Given the description of an element on the screen output the (x, y) to click on. 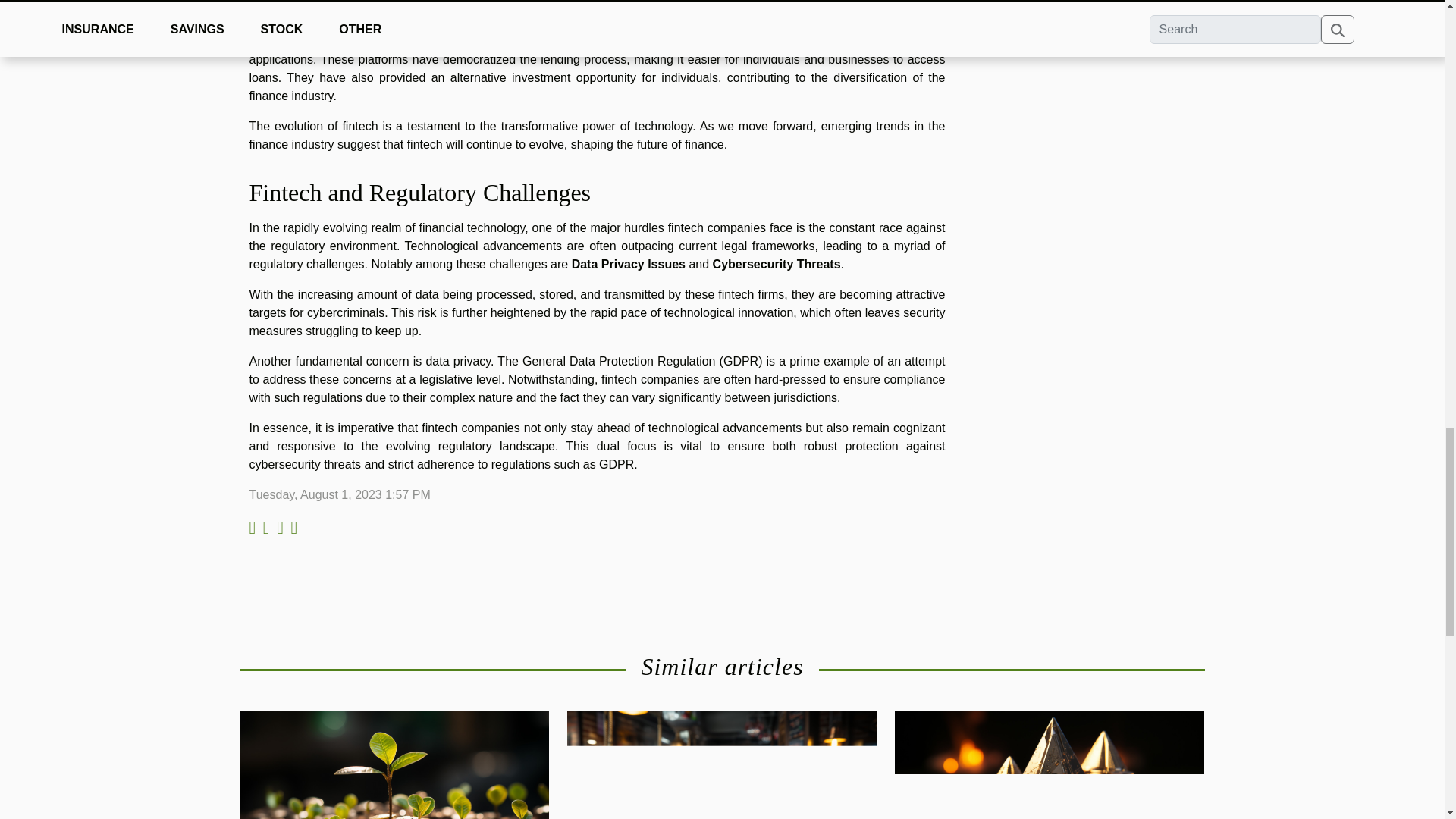
The Hidden Cost of Free Trading Apps (721, 797)
Green Investing: The Profitable Way to Save the Planet (394, 797)
Revolutionizing Finance: The Future of Cryptocurrencies (1049, 797)
